Given the description of an element on the screen output the (x, y) to click on. 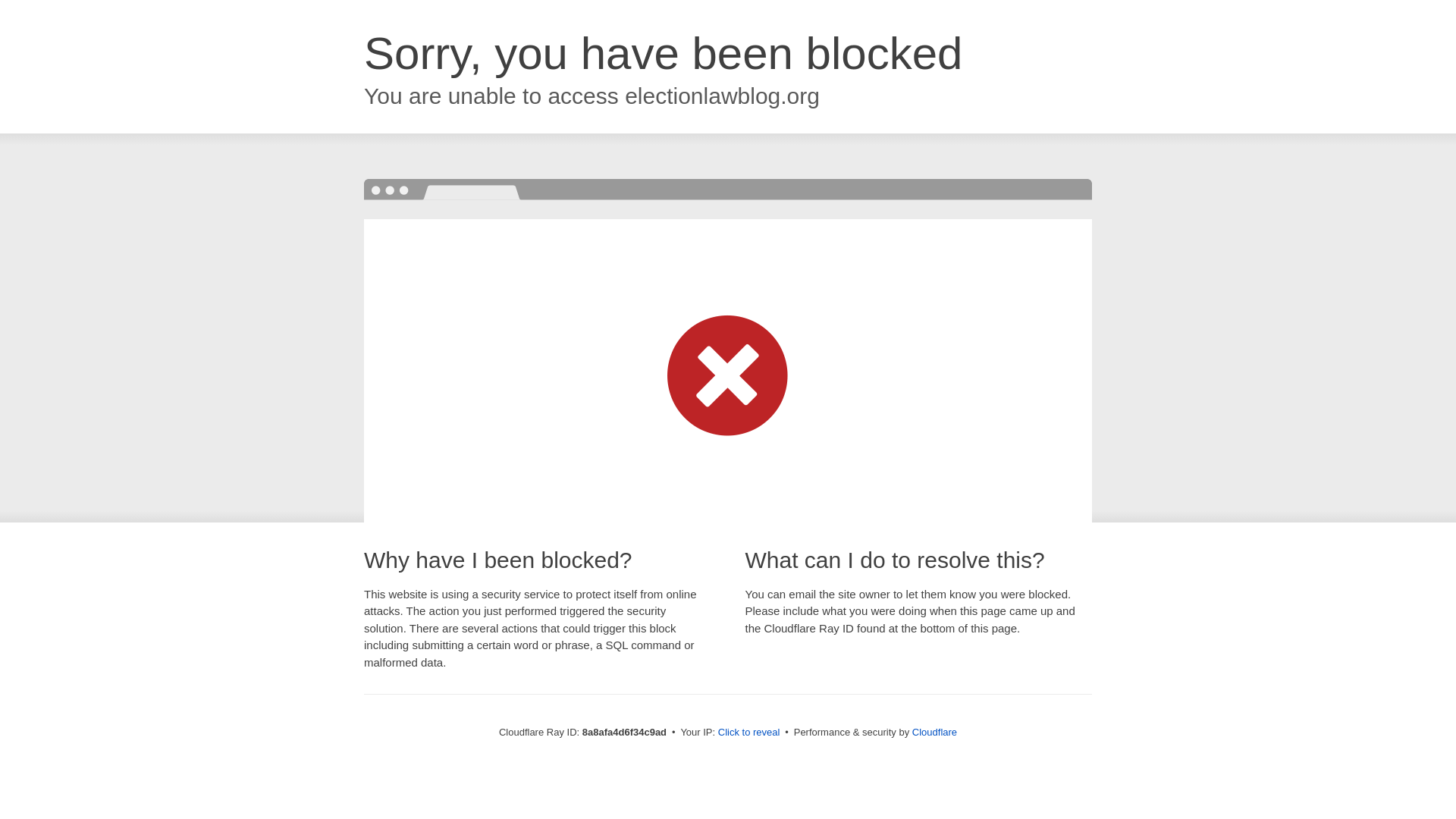
Click to reveal (748, 732)
Cloudflare (934, 731)
